Given the description of an element on the screen output the (x, y) to click on. 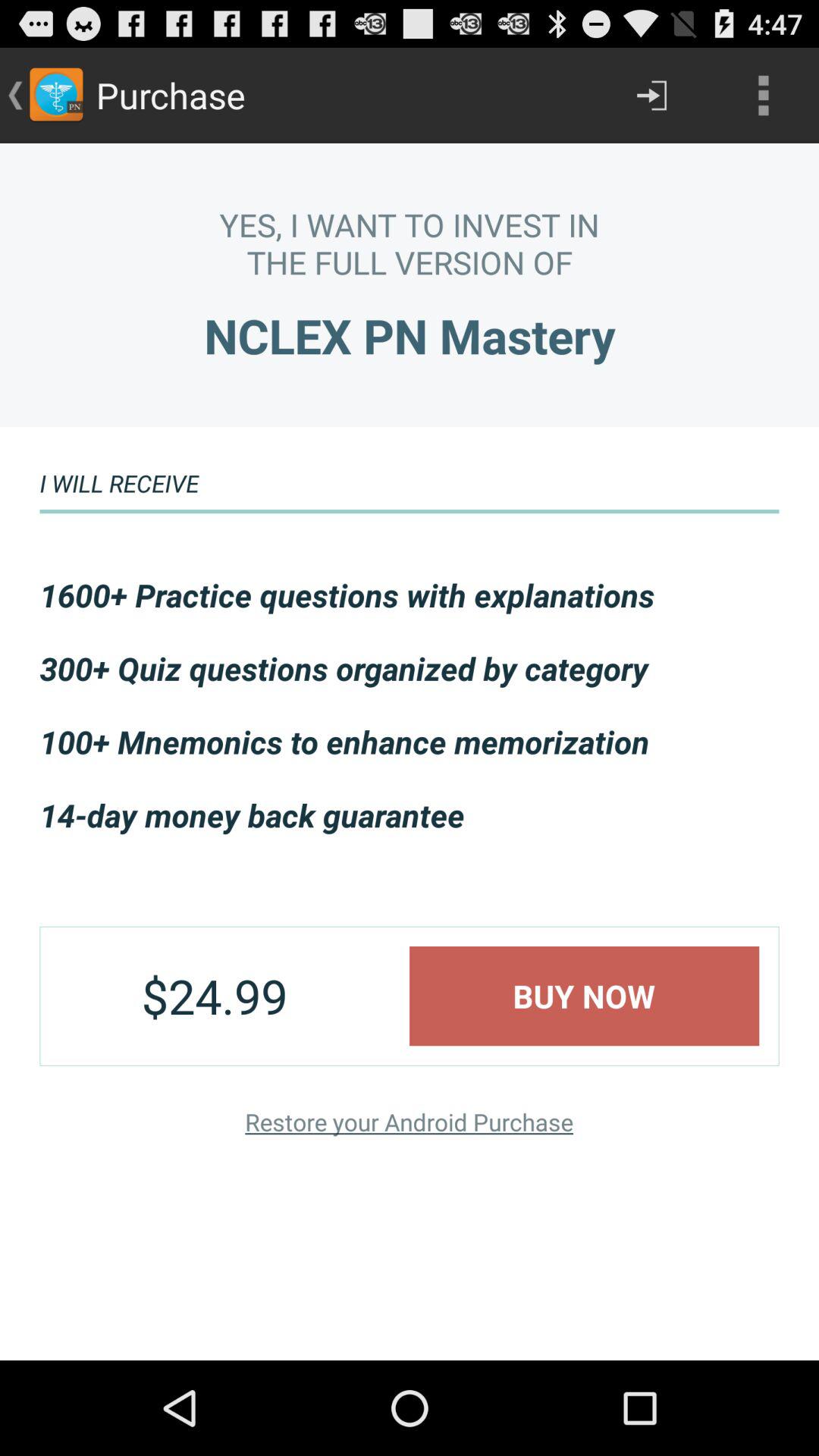
turn off item at the bottom right corner (584, 995)
